Given the description of an element on the screen output the (x, y) to click on. 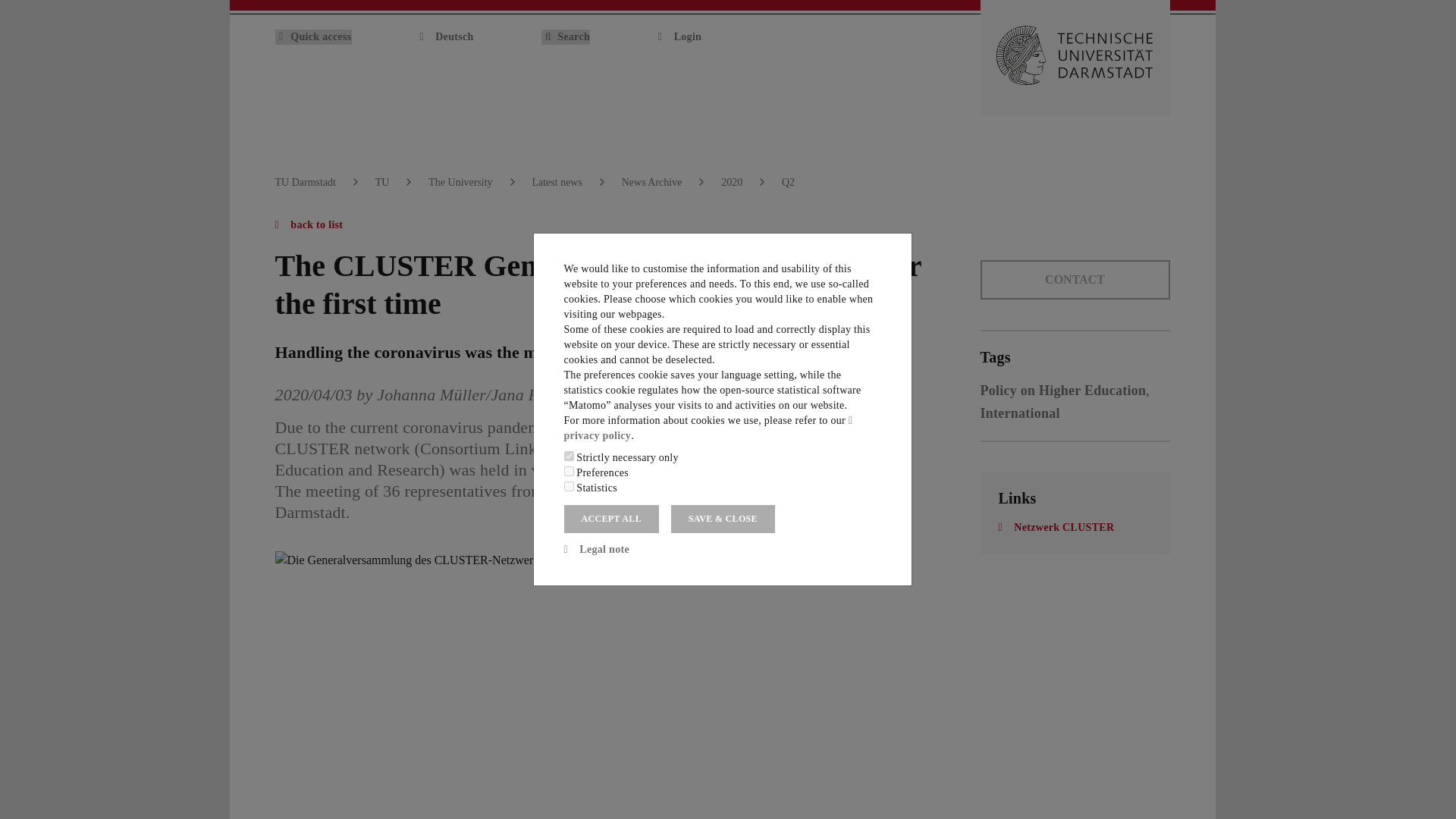
Policy on Higher Education (1062, 390)
Deutsch (446, 36)
back to list (308, 224)
Netzwerk CLUSTER (1055, 527)
Search (565, 37)
News Archive (651, 182)
Related articles (1062, 390)
TU Darmstadt (304, 182)
Quick access (312, 37)
usability (568, 470)
